Given the description of an element on the screen output the (x, y) to click on. 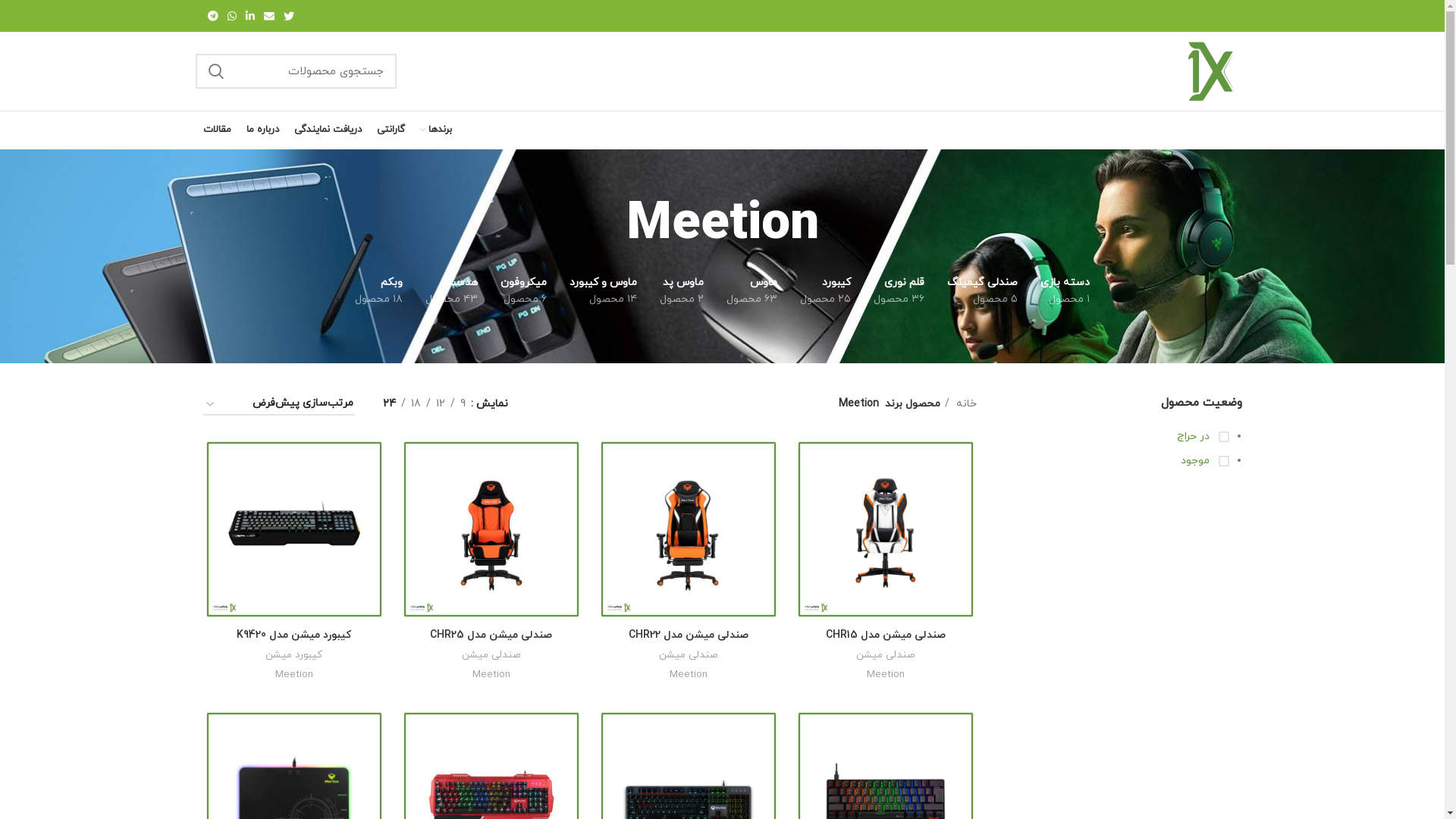
Meetion Element type: text (490, 674)
9 Element type: text (462, 403)
12 Element type: text (440, 403)
24 Element type: text (389, 403)
Meetion Element type: text (687, 674)
18 Element type: text (414, 403)
Meetion Element type: text (293, 674)
Meetion Element type: text (884, 674)
